Given the description of an element on the screen output the (x, y) to click on. 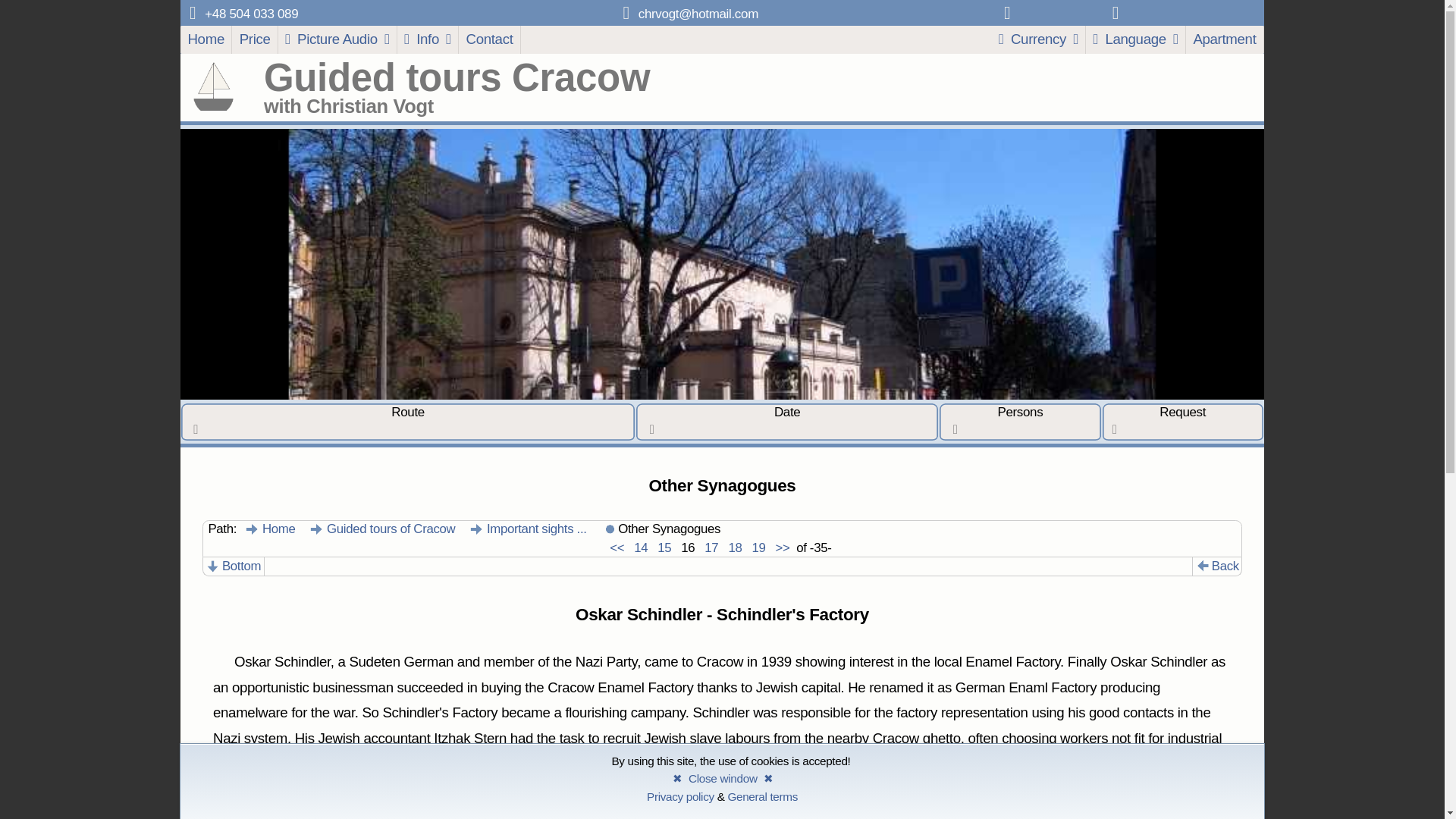
Home (270, 529)
Info (427, 39)
Picture Audio (337, 39)
Price (254, 39)
Home (205, 39)
Contact (489, 39)
